Given the description of an element on the screen output the (x, y) to click on. 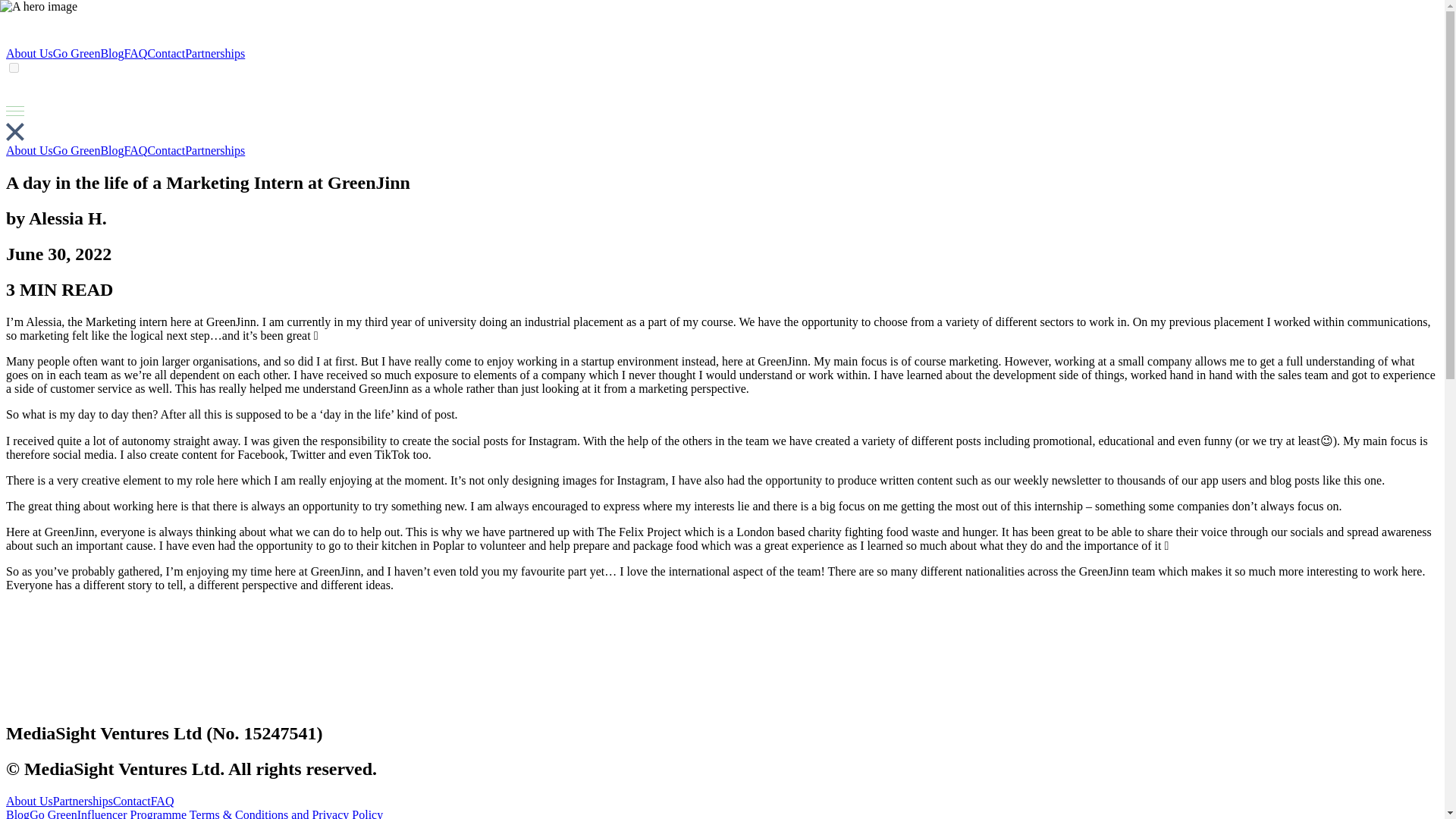
Contact (132, 800)
Partnerships (214, 52)
Partnerships (214, 150)
About Us (28, 52)
Contact (165, 52)
Go Green (76, 150)
FAQ (135, 150)
Go Green (53, 813)
on (13, 67)
Go Green (76, 52)
FAQ (135, 52)
Influencer Programme (131, 813)
About Us (28, 800)
About Us (28, 150)
FAQ (162, 800)
